Given the description of an element on the screen output the (x, y) to click on. 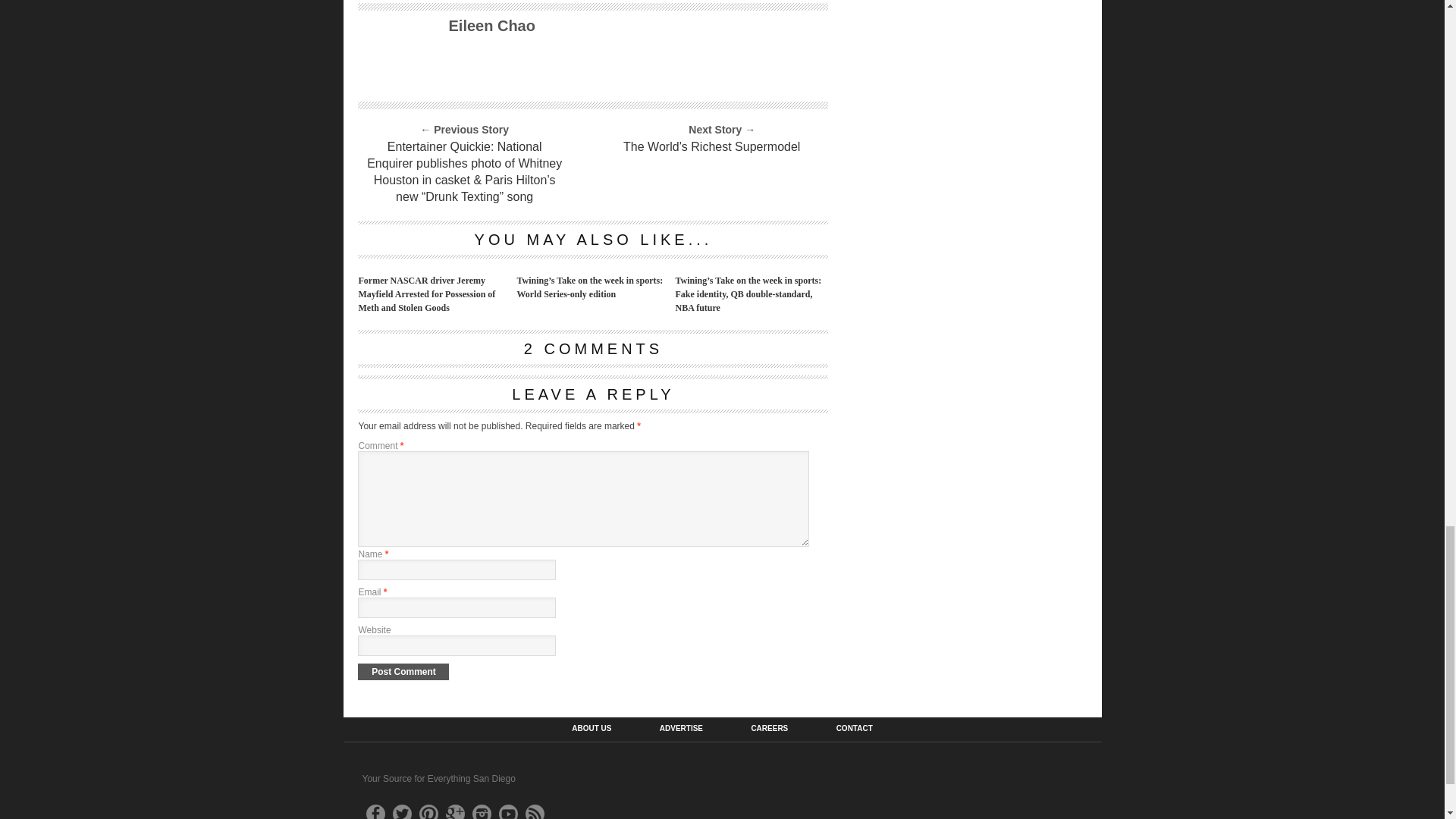
Posts by Eileen Chao (491, 25)
Post Comment (403, 671)
